Given the description of an element on the screen output the (x, y) to click on. 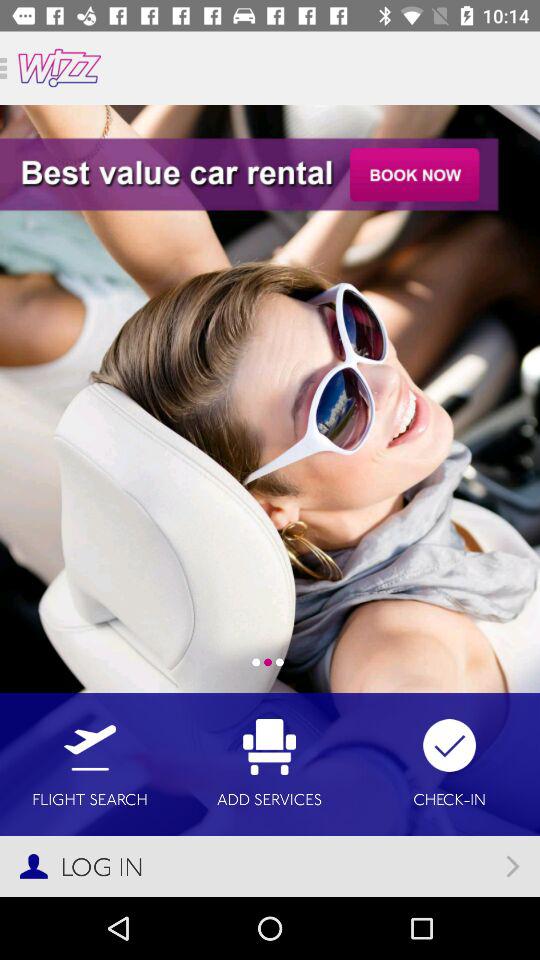
click item at the center (270, 500)
